Given the description of an element on the screen output the (x, y) to click on. 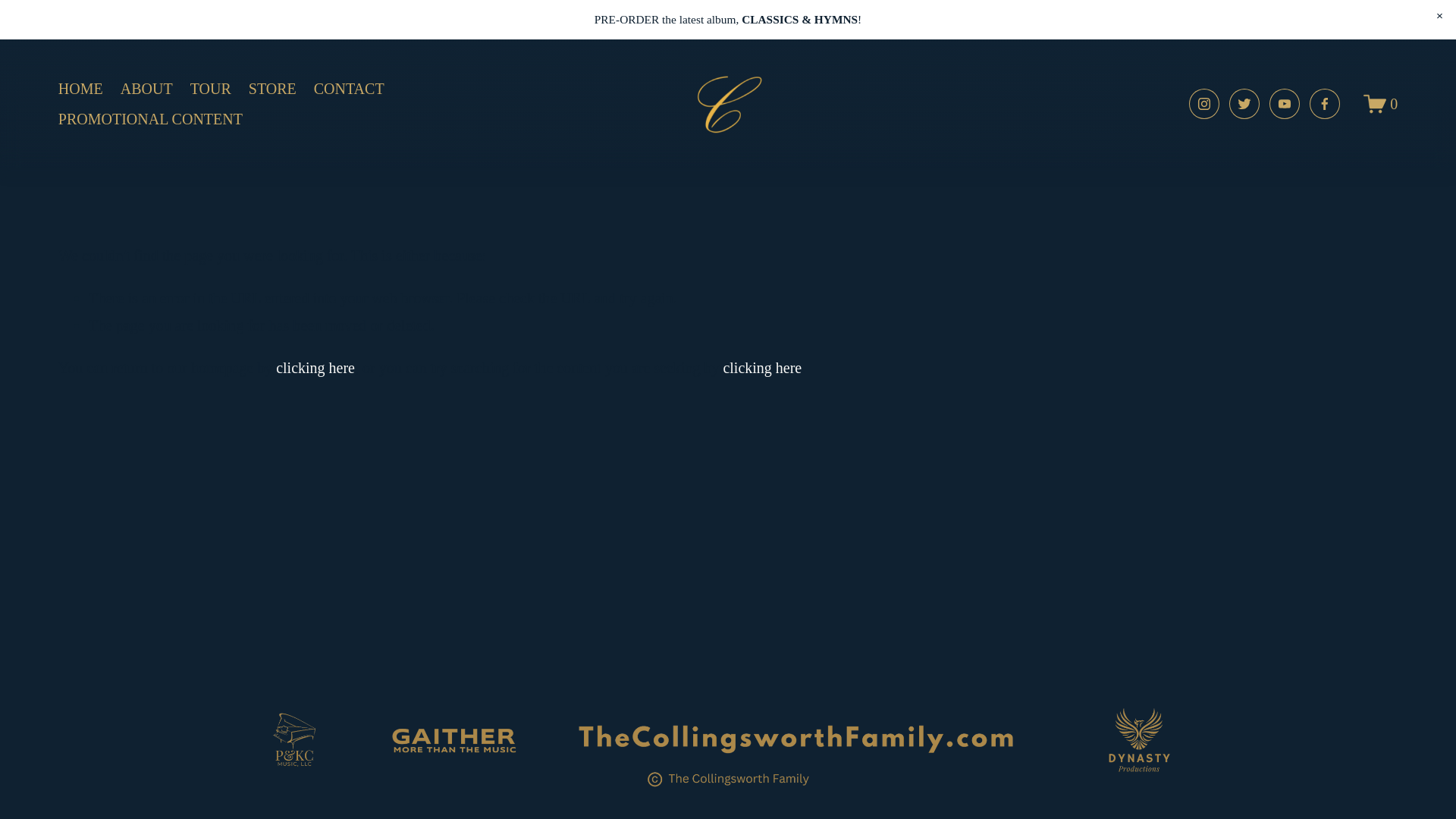
TOUR (210, 88)
HOME (80, 88)
ABOUT (146, 88)
STORE (272, 88)
PROMOTIONAL CONTENT (150, 119)
0 (1379, 103)
CONTACT (349, 88)
